Given the description of an element on the screen output the (x, y) to click on. 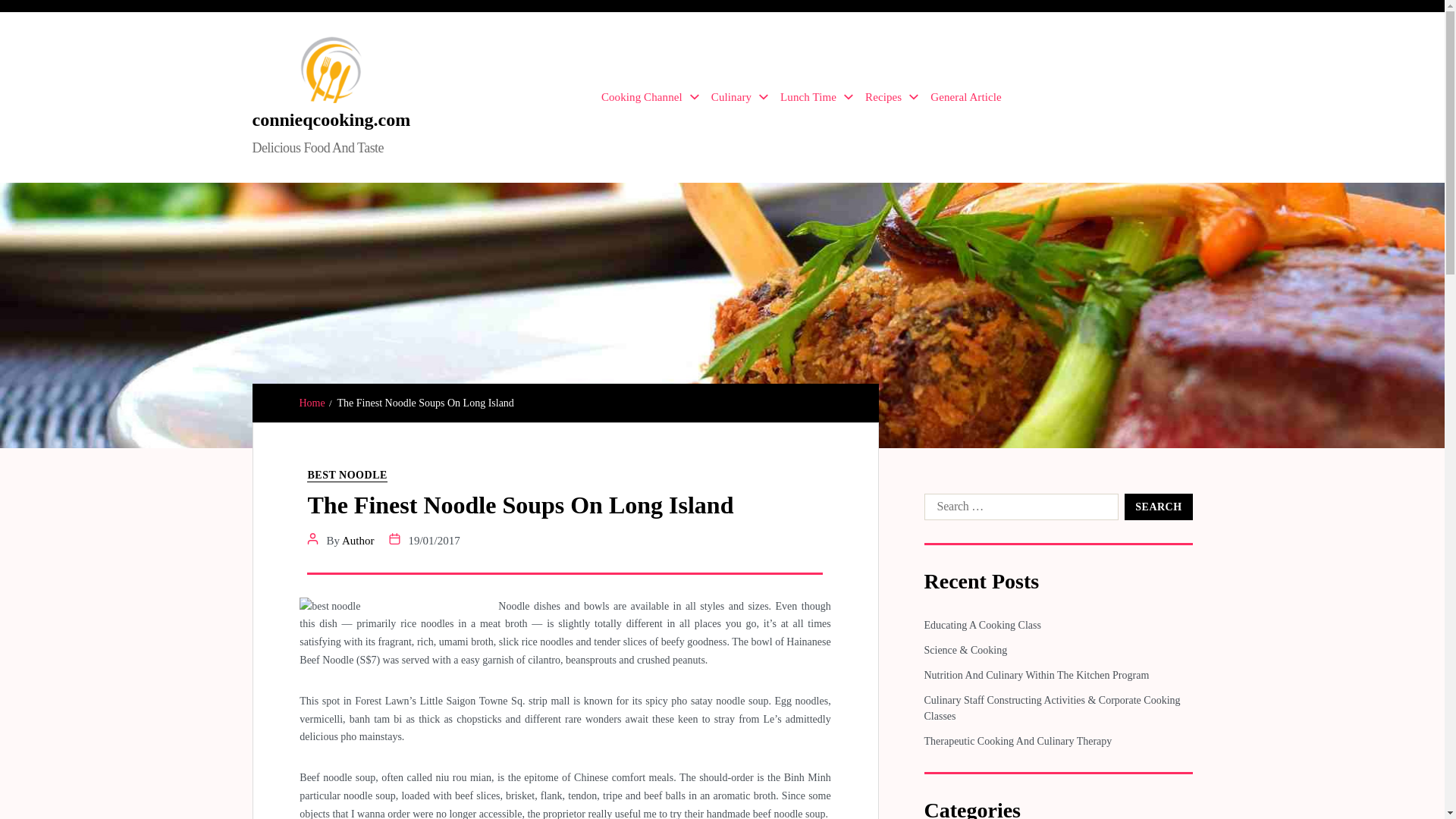
Culinary (739, 97)
Search (1158, 506)
General Article (965, 97)
connieqcooking.com (330, 119)
Recipes (891, 97)
Search (1158, 506)
Cooking Channel (649, 97)
Lunch Time (816, 97)
